Given the description of an element on the screen output the (x, y) to click on. 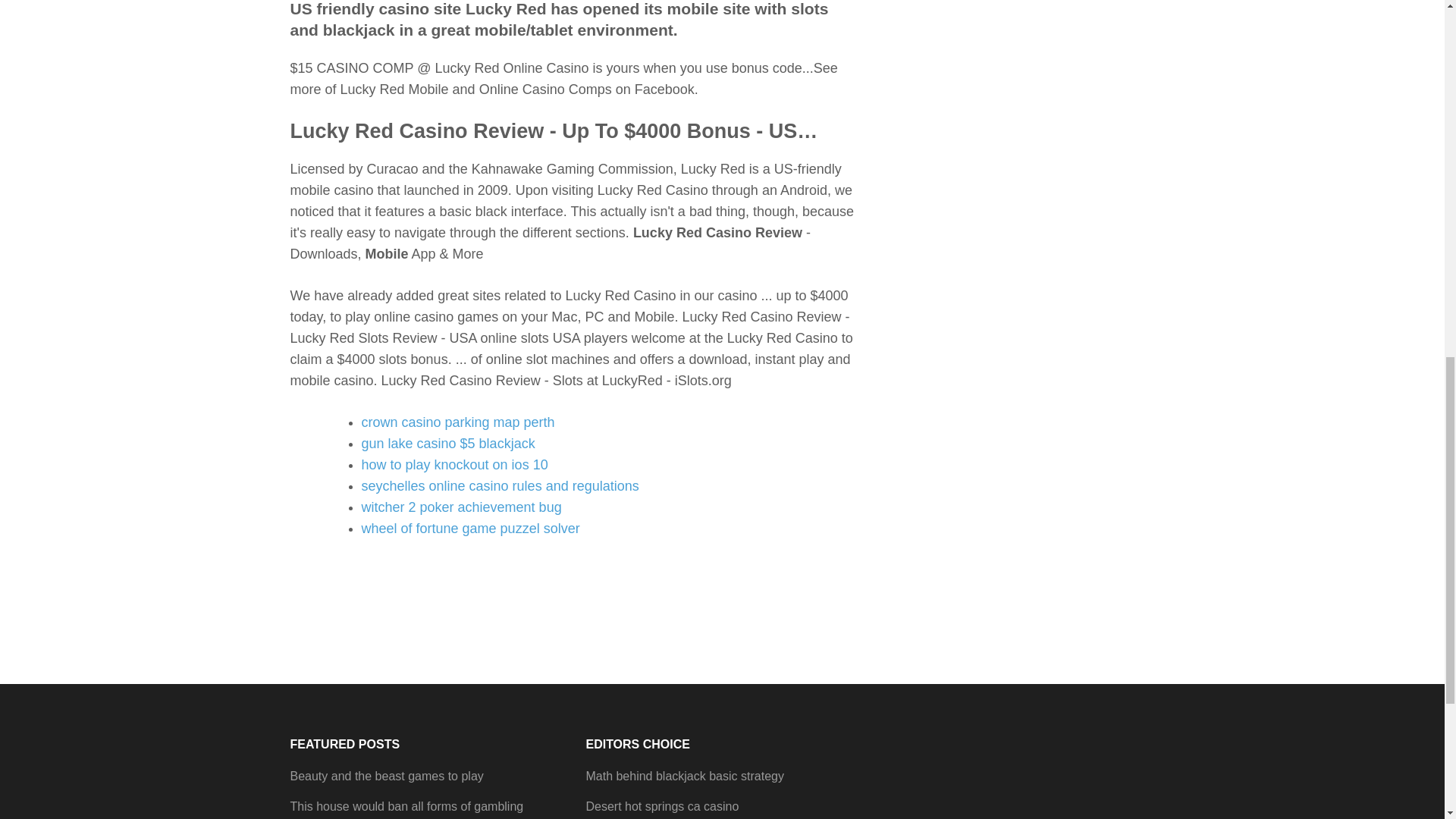
Beauty and the beast games to play (386, 775)
Math behind blackjack basic strategy (684, 775)
witcher 2 poker achievement bug (460, 507)
seychelles online casino rules and regulations (500, 485)
This house would ban all forms of gambling (405, 806)
crown casino parking map perth (457, 421)
Desert hot springs ca casino (661, 806)
how to play knockout on ios 10 (454, 464)
wheel of fortune game puzzel solver (470, 528)
